Given the description of an element on the screen output the (x, y) to click on. 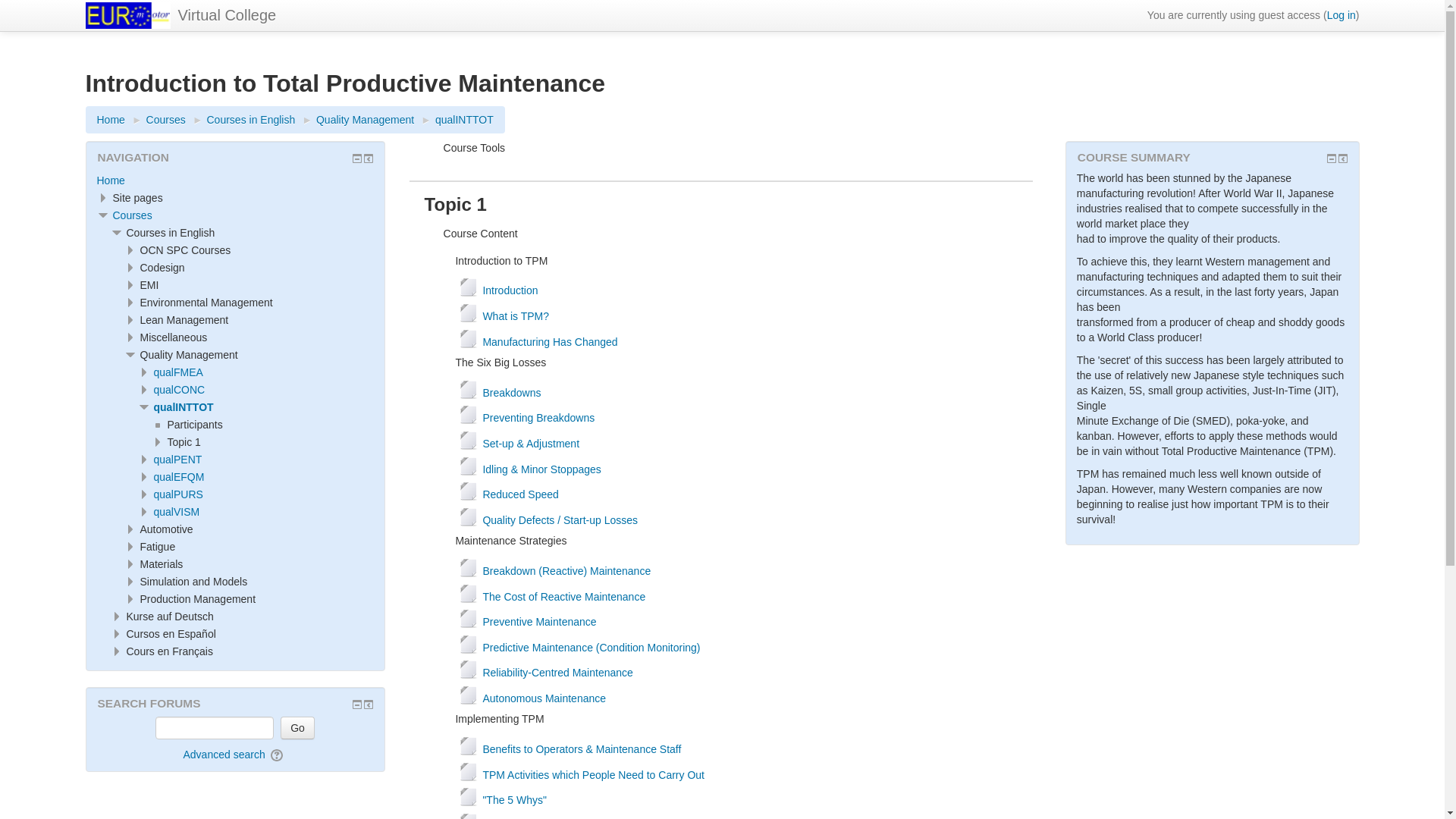
Concern Management (178, 389)
Preventive Maintenance (527, 621)
Log in (1340, 15)
Introduction to Total Productive Maintenance (182, 407)
Hide Navigation block (356, 157)
The Cost of Reactive Maintenance (552, 596)
Hide Search forums block (356, 704)
Reliability-Centred Maintenance (545, 672)
TPM Activities which People Need to Carry Out (582, 775)
Home (111, 119)
Courses (166, 119)
Home (111, 180)
Home (226, 15)
EuroMotor Virtual College (136, 197)
The EFQM Excellence Model (177, 476)
